Given the description of an element on the screen output the (x, y) to click on. 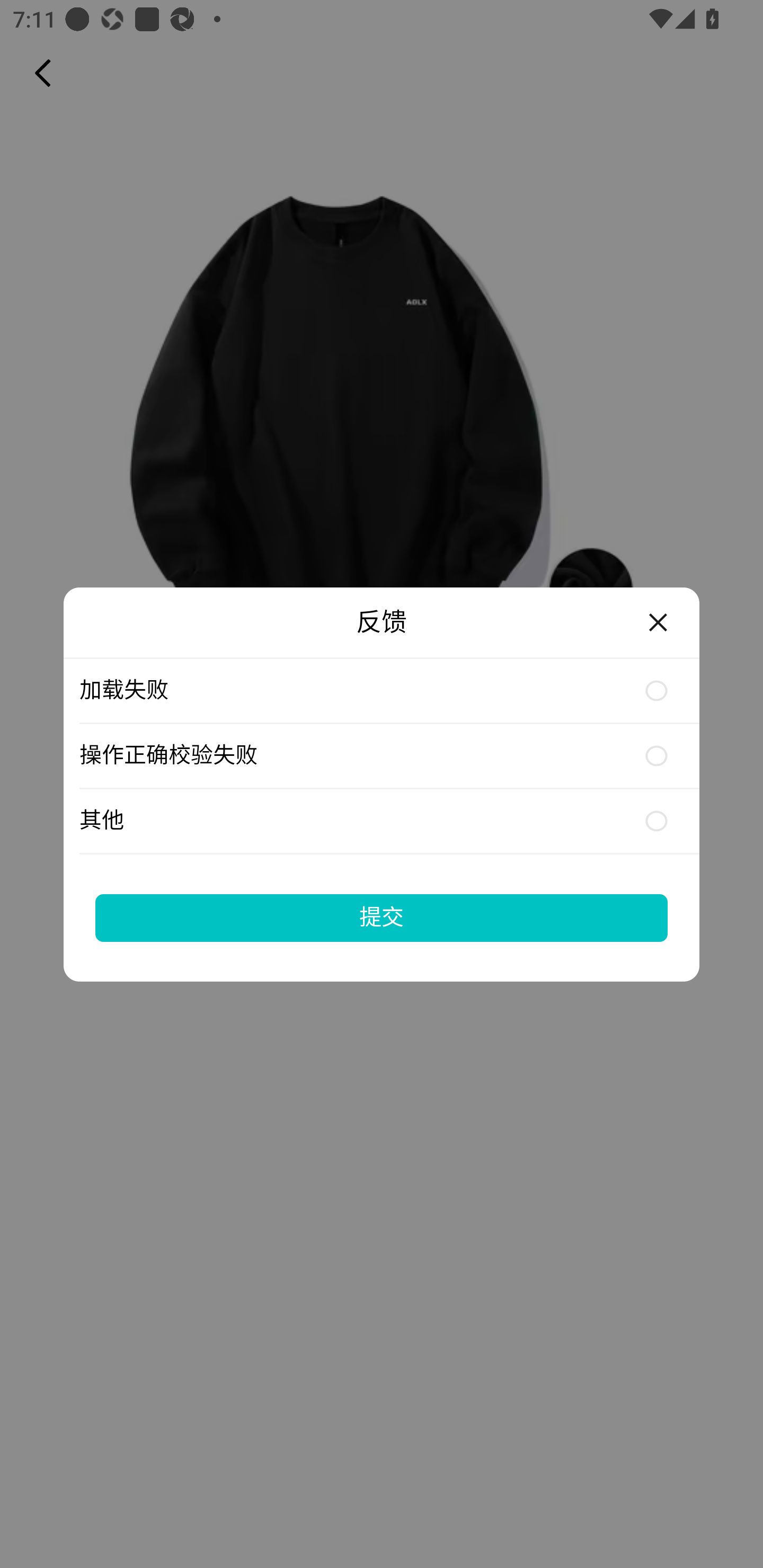
提交 (381, 917)
